Given the description of an element on the screen output the (x, y) to click on. 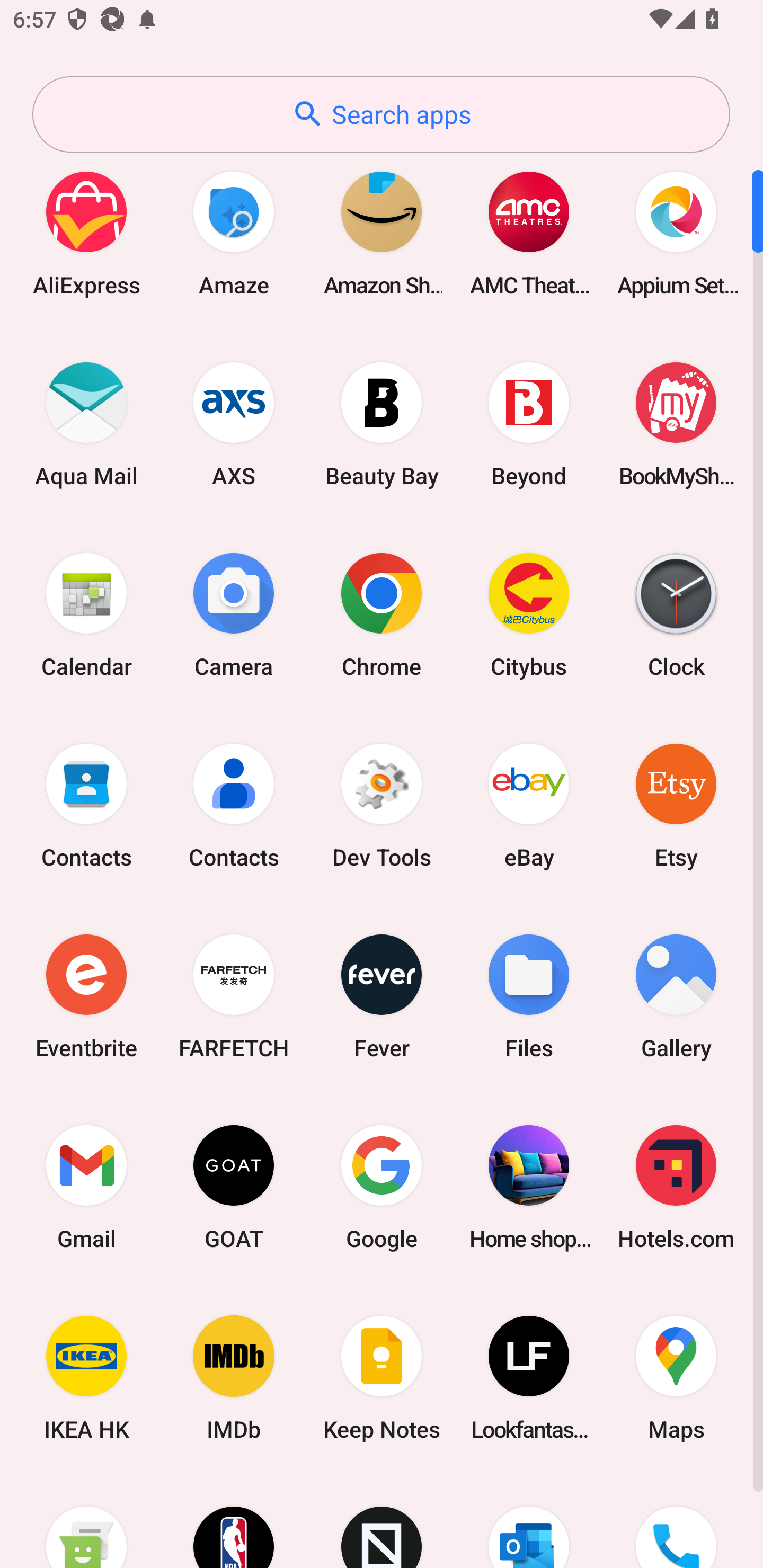
  Search apps (381, 114)
AliExpress (86, 233)
Amaze (233, 233)
Amazon Shopping (381, 233)
AMC Theatres (528, 233)
Appium Settings (676, 233)
Aqua Mail (86, 424)
AXS (233, 424)
Beauty Bay (381, 424)
Beyond (528, 424)
BookMyShow (676, 424)
Calendar (86, 614)
Camera (233, 614)
Chrome (381, 614)
Citybus (528, 614)
Clock (676, 614)
Contacts (86, 805)
Contacts (233, 805)
Dev Tools (381, 805)
eBay (528, 805)
Etsy (676, 805)
Eventbrite (86, 996)
FARFETCH (233, 996)
Fever (381, 996)
Files (528, 996)
Gallery (676, 996)
Gmail (86, 1186)
GOAT (233, 1186)
Google (381, 1186)
Home shopping (528, 1186)
Hotels.com (676, 1186)
IKEA HK (86, 1377)
IMDb (233, 1377)
Keep Notes (381, 1377)
Lookfantastic (528, 1377)
Maps (676, 1377)
